Given the description of an element on the screen output the (x, y) to click on. 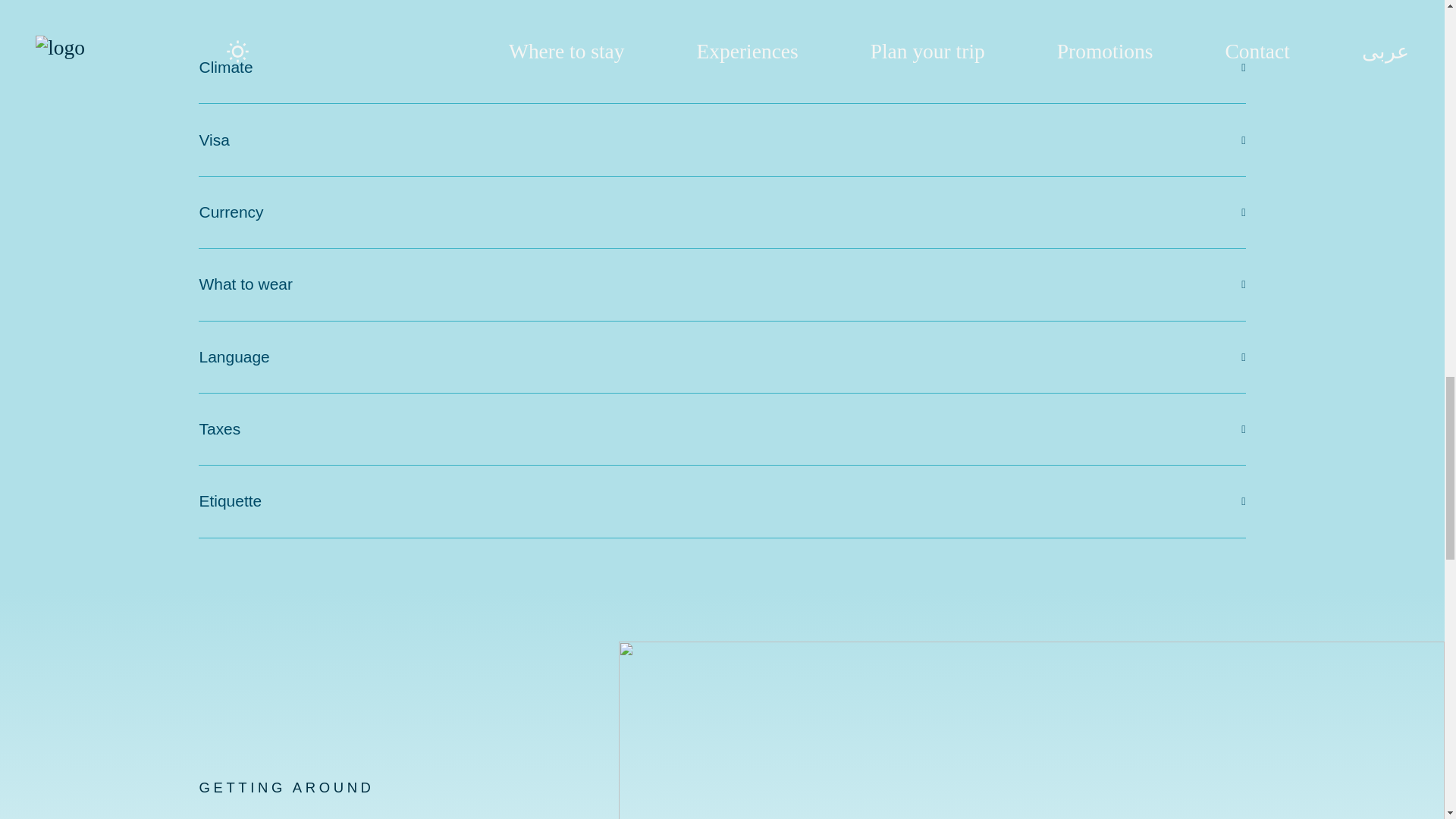
Taxes (721, 429)
What to wear (721, 284)
Etiquette (721, 501)
Language (721, 357)
Currency (721, 212)
Climate (721, 67)
Visa (721, 139)
